Given the description of an element on the screen output the (x, y) to click on. 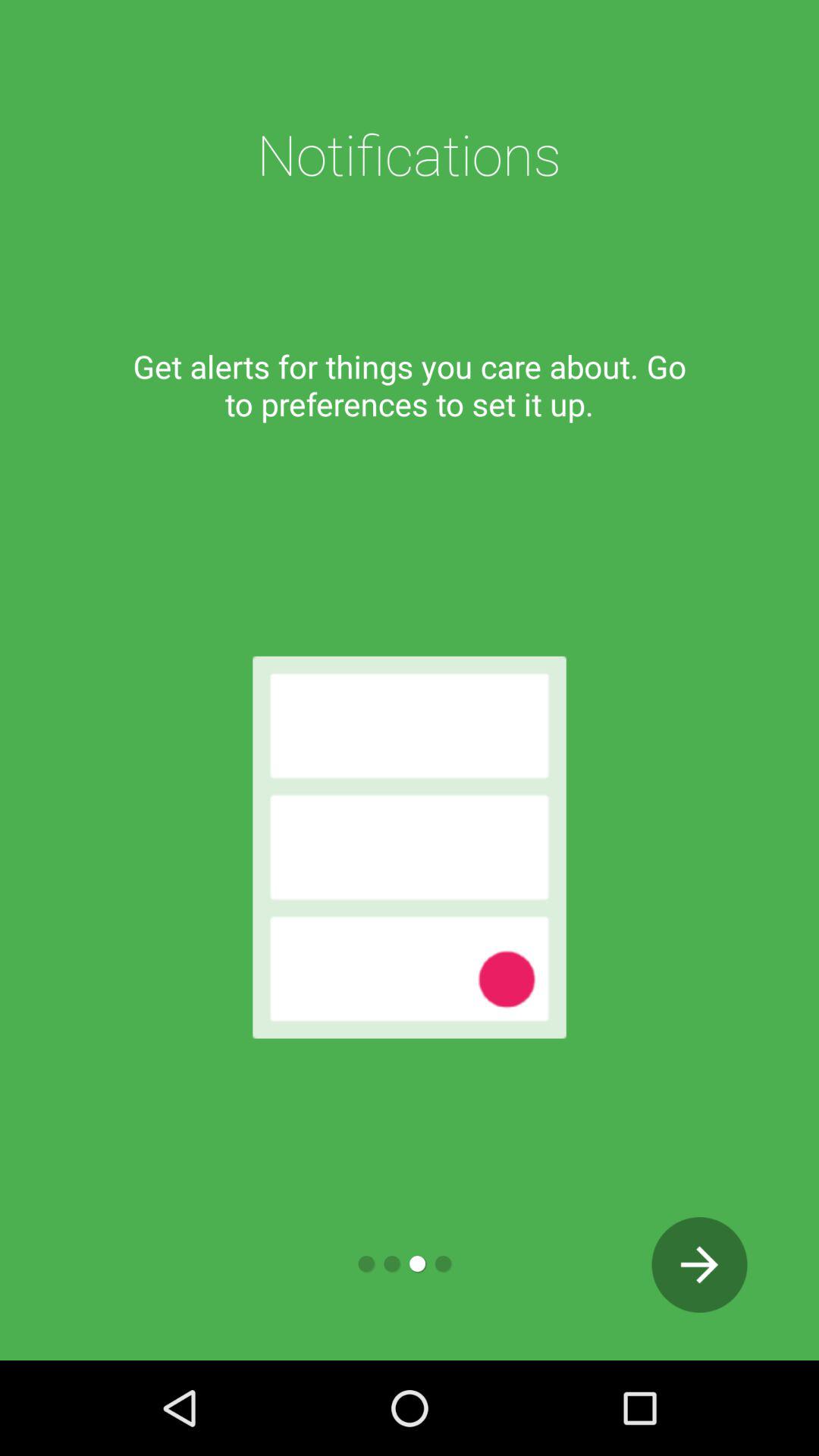
turn on item at the bottom right corner (699, 1264)
